Given the description of an element on the screen output the (x, y) to click on. 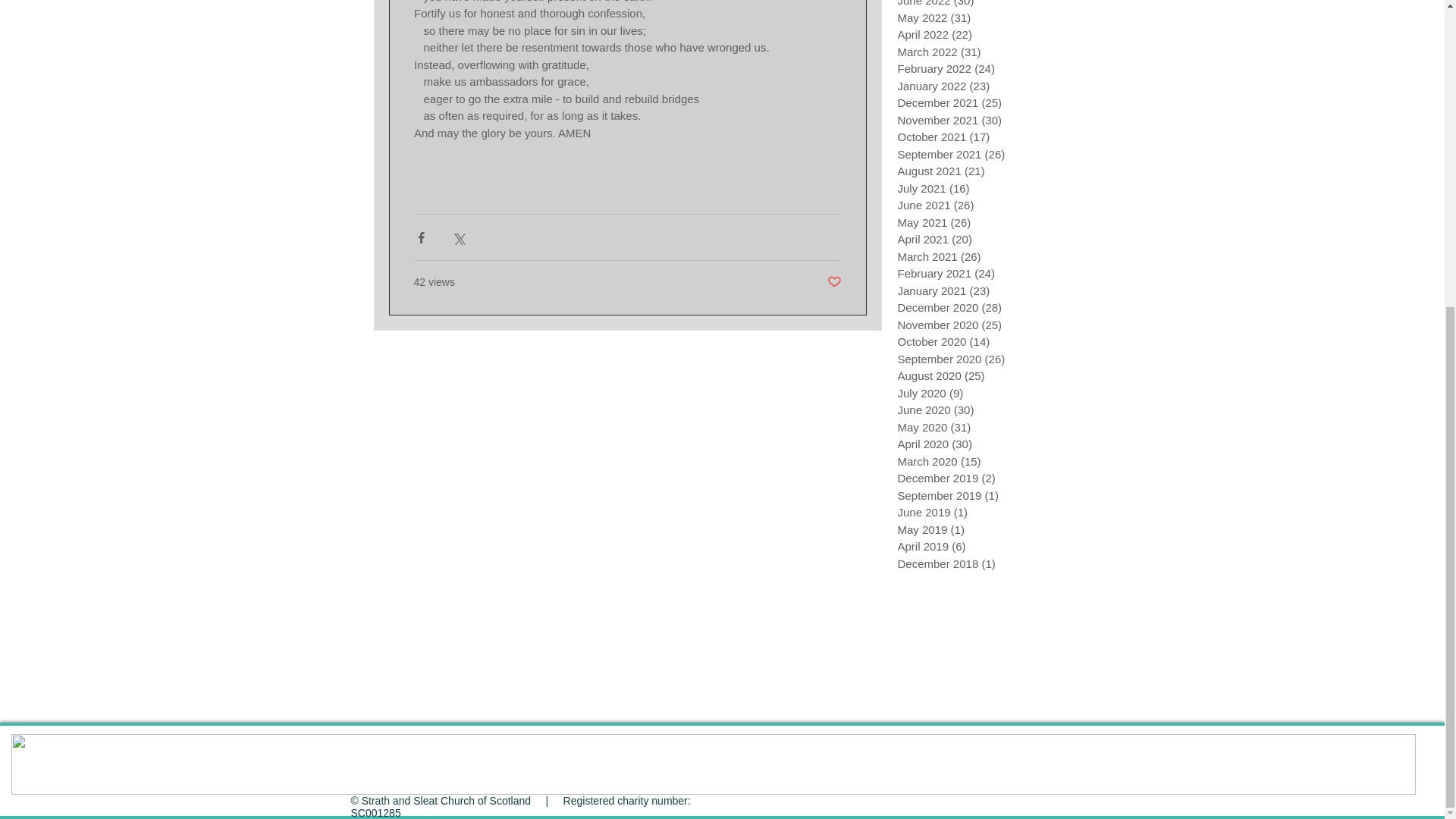
Post not marked as liked (834, 282)
Churches sketches.jpg (712, 763)
